Given the description of an element on the screen output the (x, y) to click on. 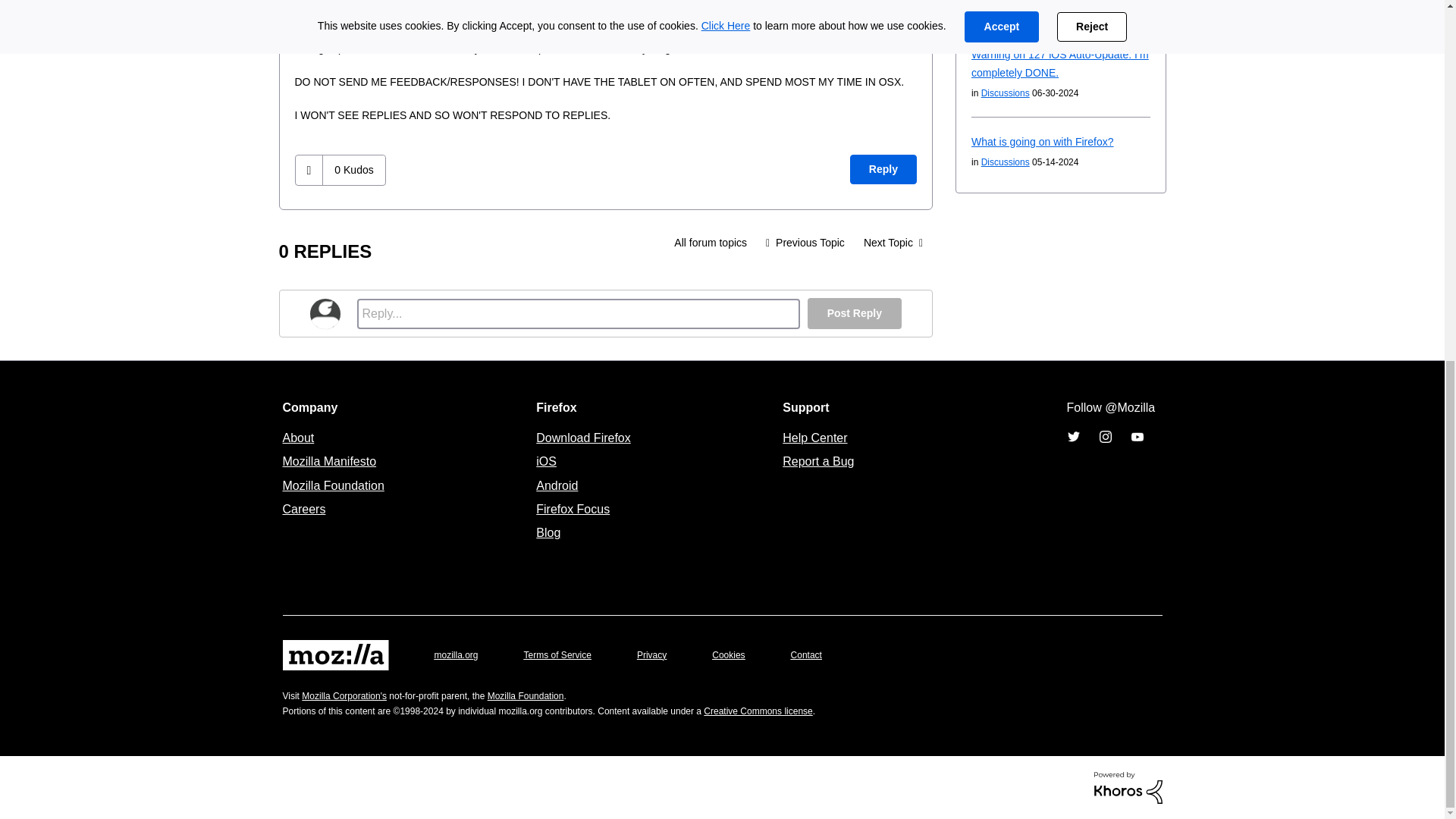
Previous Topic (804, 242)
All forum topics (710, 242)
Reply (883, 169)
Twitter (1072, 436)
Discussions (710, 242)
The total number of kudos this post has received. (353, 169)
Next Topic (893, 242)
Post Reply (854, 313)
Click here to give kudos to this post. (309, 170)
